Given the description of an element on the screen output the (x, y) to click on. 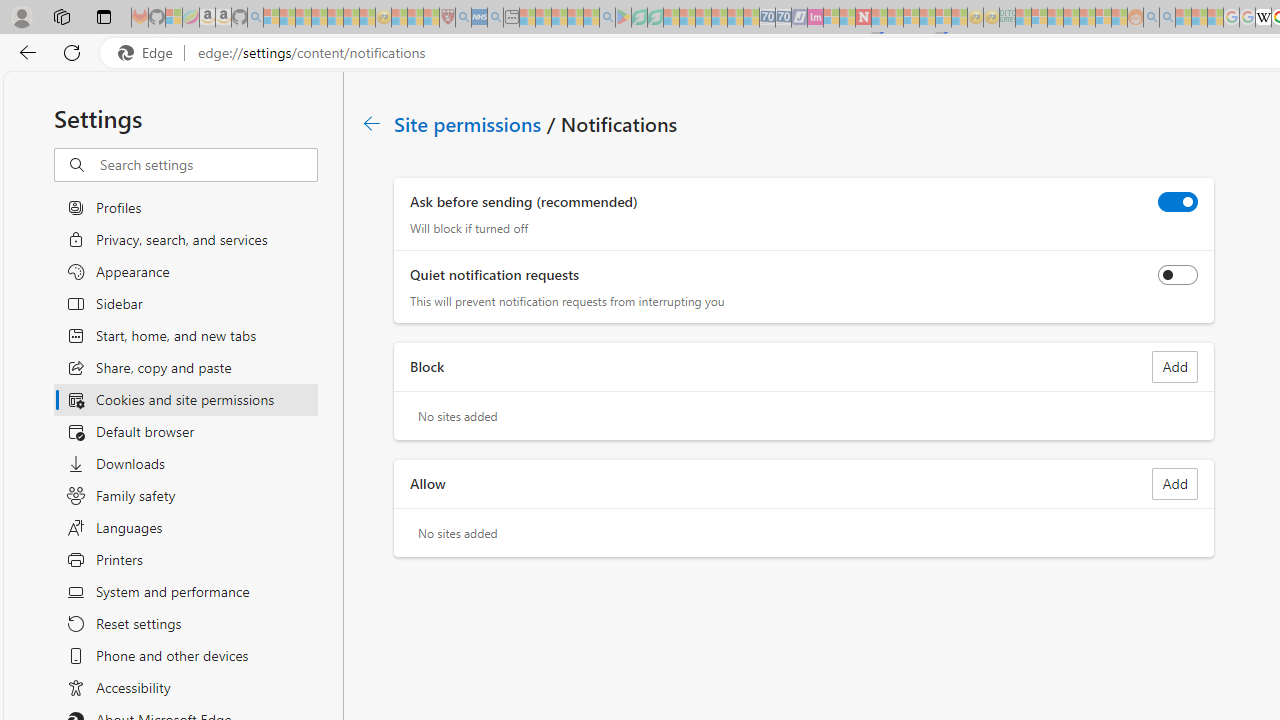
14 Common Myths Debunked By Scientific Facts - Sleeping (895, 17)
Target page - Wikipedia (1263, 17)
Robert H. Shmerling, MD - Harvard Health - Sleeping (447, 17)
Recipes - MSN - Sleeping (399, 17)
DITOGAMES AG Imprint - Sleeping (1007, 17)
Edge (150, 53)
Add site to Allow list (1175, 483)
